Given the description of an element on the screen output the (x, y) to click on. 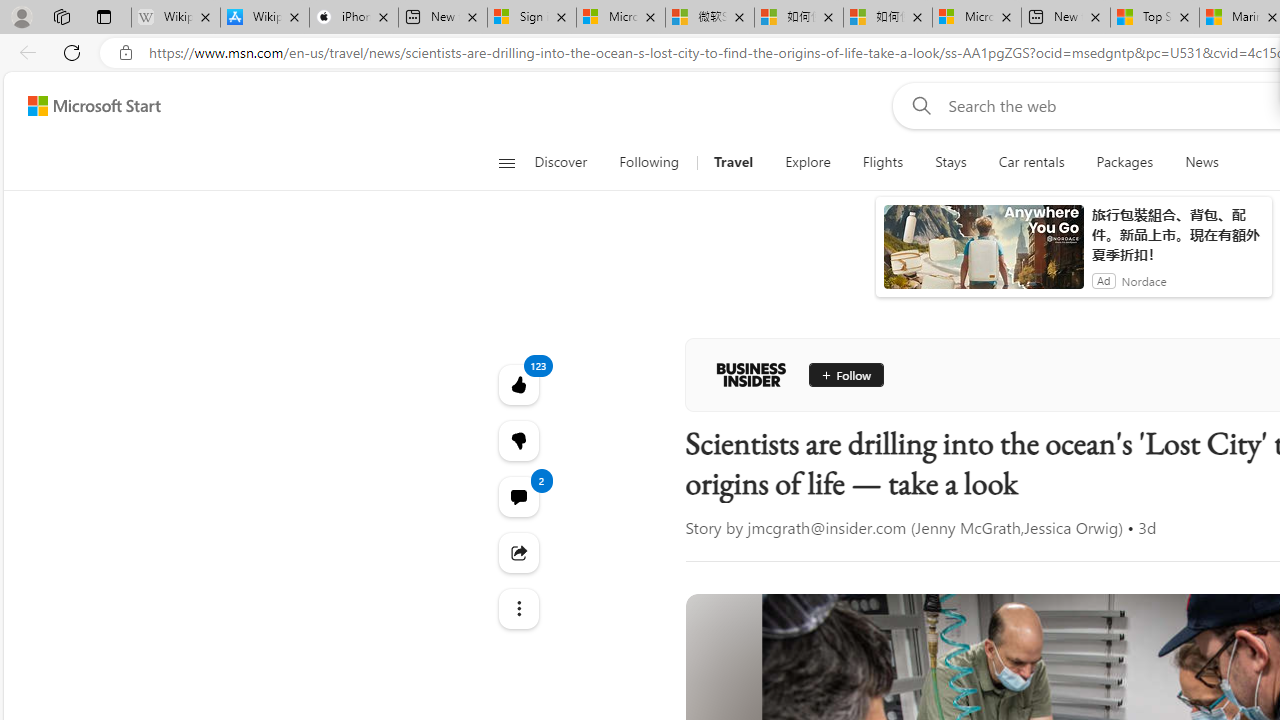
Car rentals (1031, 162)
Top Stories - MSN (1155, 17)
iPhone - Apple (353, 17)
Stays (950, 162)
Travel (732, 162)
